Given the description of an element on the screen output the (x, y) to click on. 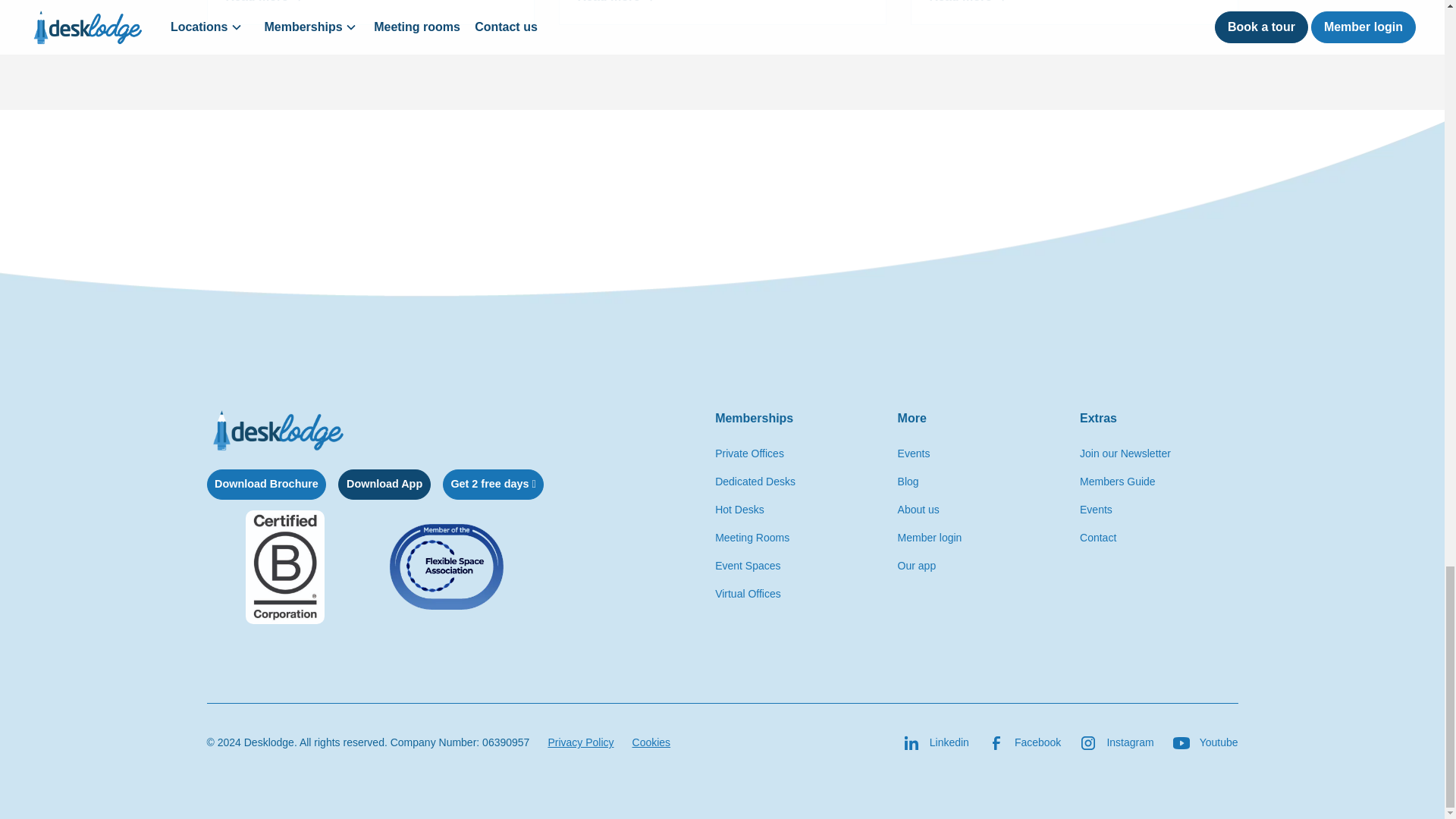
Virtual Offices (371, 12)
Dedicated Desks (747, 593)
Private Offices (754, 481)
Our app (749, 453)
Meeting Rooms (917, 565)
Hot Desks (751, 538)
Download App (739, 510)
Event Spaces (383, 484)
